Given the description of an element on the screen output the (x, y) to click on. 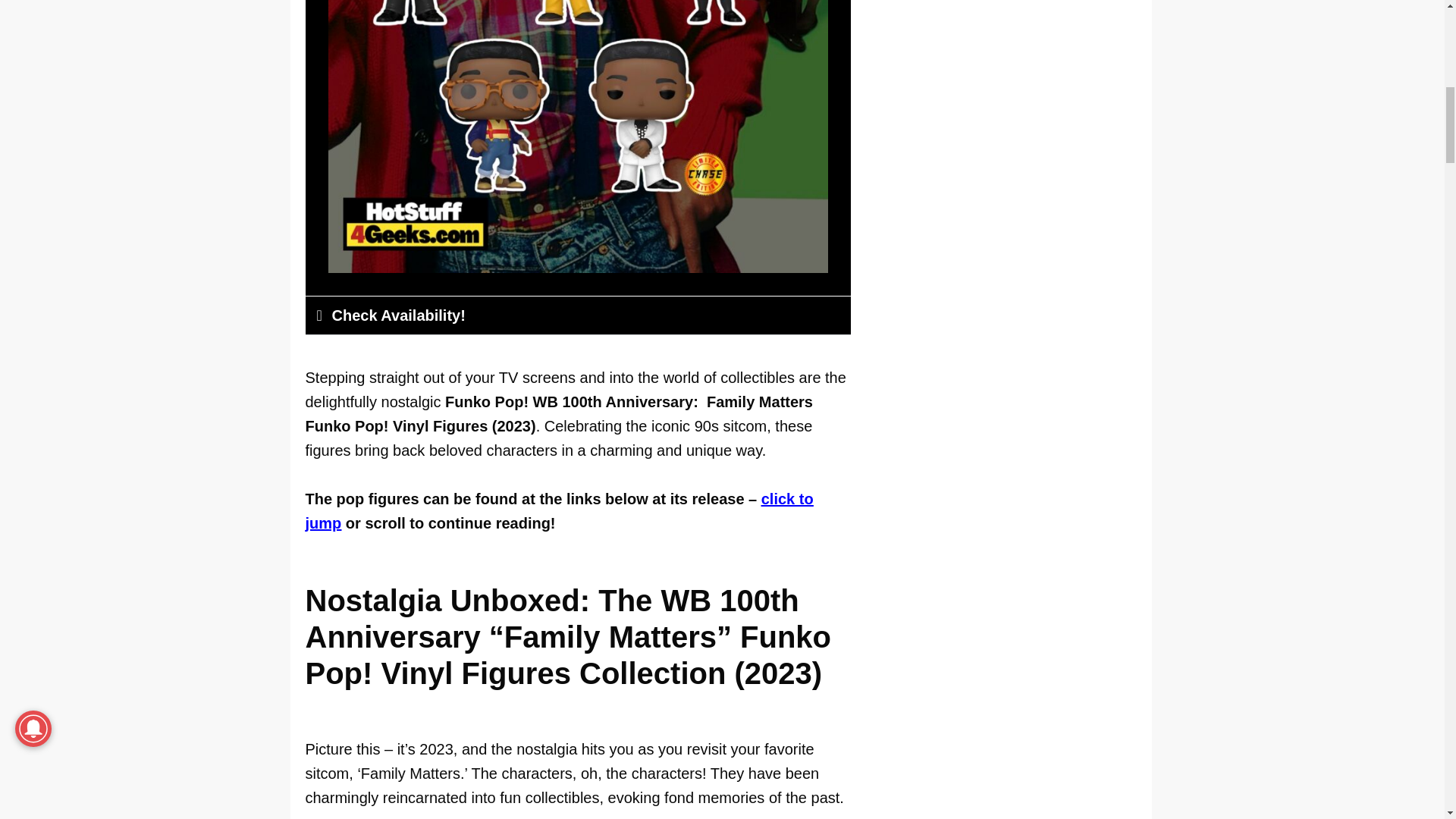
Check Availability! (398, 315)
click to jump (558, 510)
